Given the description of an element on the screen output the (x, y) to click on. 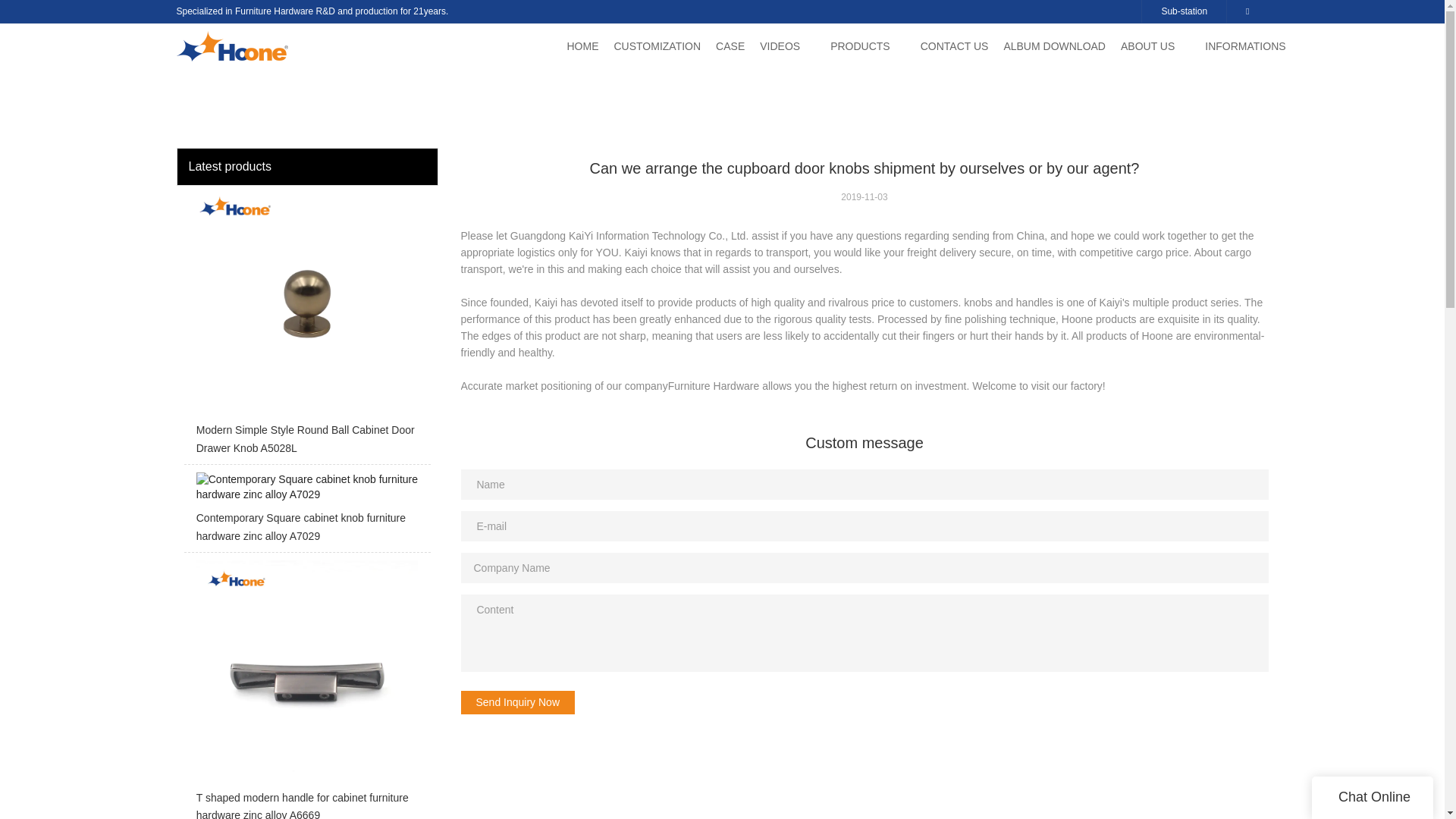
CASE (730, 46)
CUSTOMIZATION (657, 46)
INFORMATIONS (1245, 46)
CONTACT US (954, 46)
HOME (582, 46)
ABOUT US (1147, 46)
PRODUCTS (859, 46)
